Given the description of an element on the screen output the (x, y) to click on. 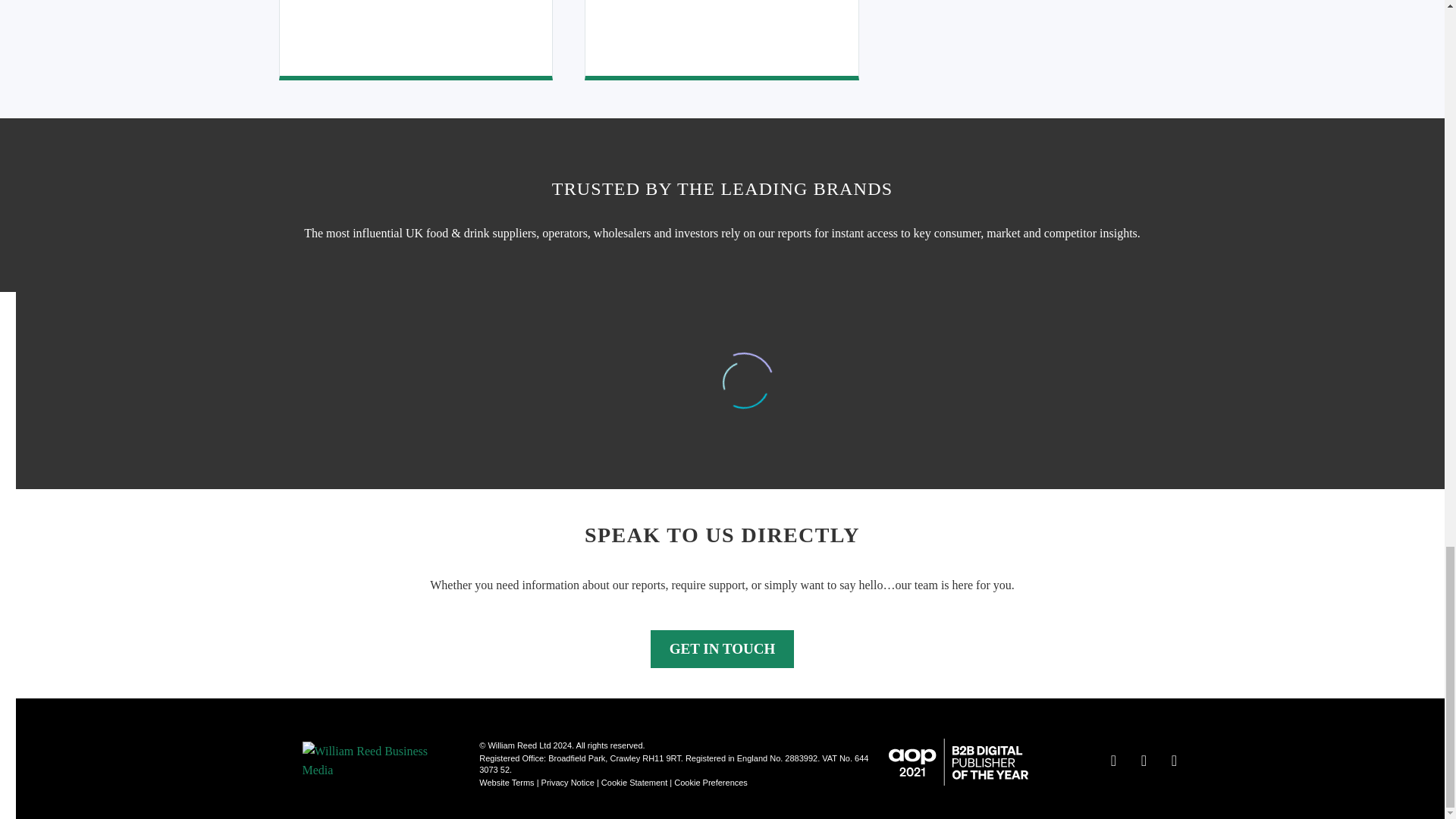
GET IN TOUCH (721, 648)
Contact Us (721, 648)
Privacy Notice (567, 782)
Website Terms (506, 782)
